Given the description of an element on the screen output the (x, y) to click on. 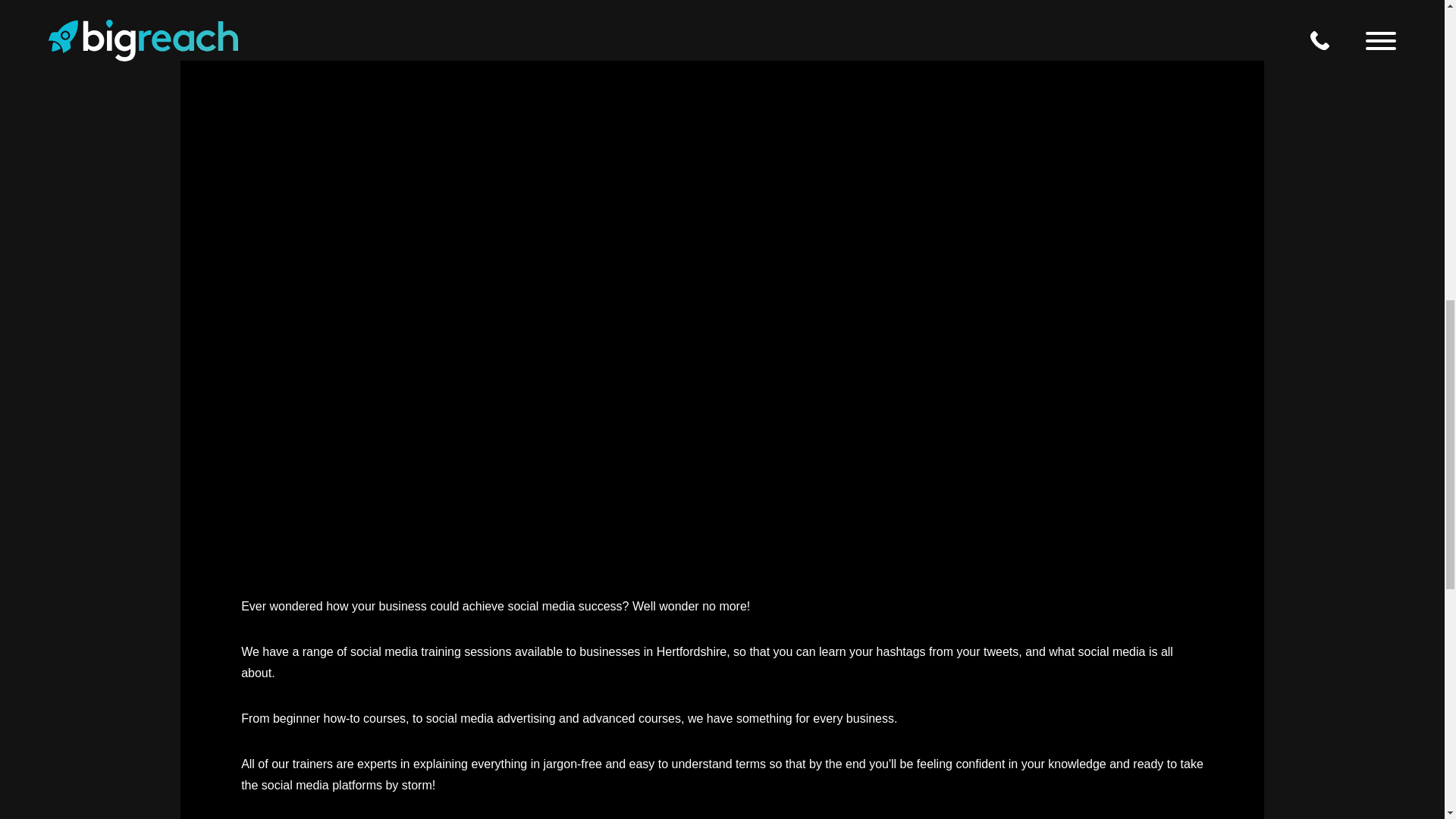
Home (681, 80)
Home (676, 325)
Get in Touch (681, 800)
About (689, 158)
Digital Marketing (641, 382)
Contact Us (695, 237)
Latest News (654, 496)
07388 068789 (762, 800)
Latest News (698, 198)
Digital Marketing (719, 119)
Contact Us (660, 553)
About (677, 439)
